Given the description of an element on the screen output the (x, y) to click on. 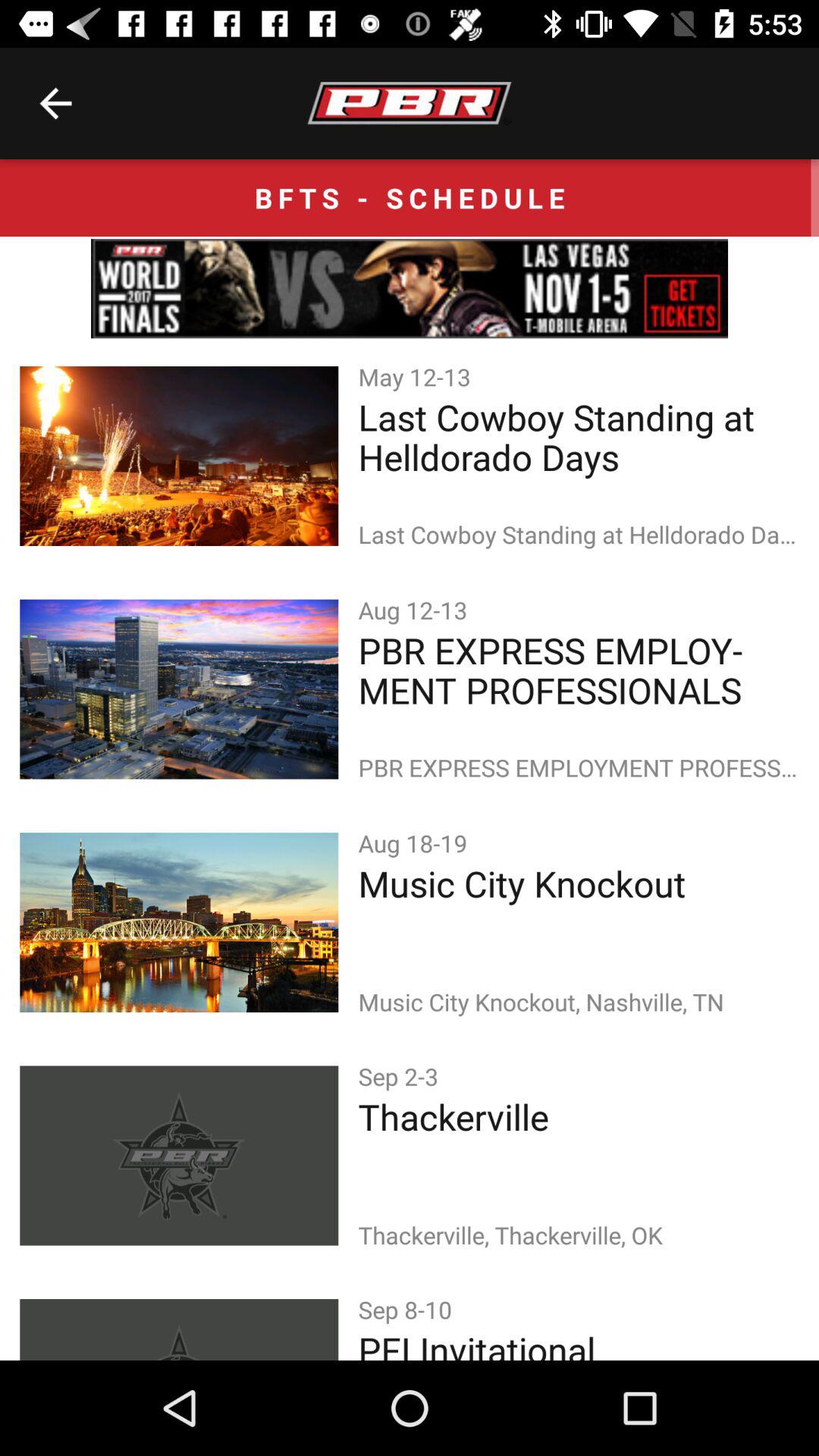
swipe to the pfi invitational icon (578, 1342)
